Given the description of an element on the screen output the (x, y) to click on. 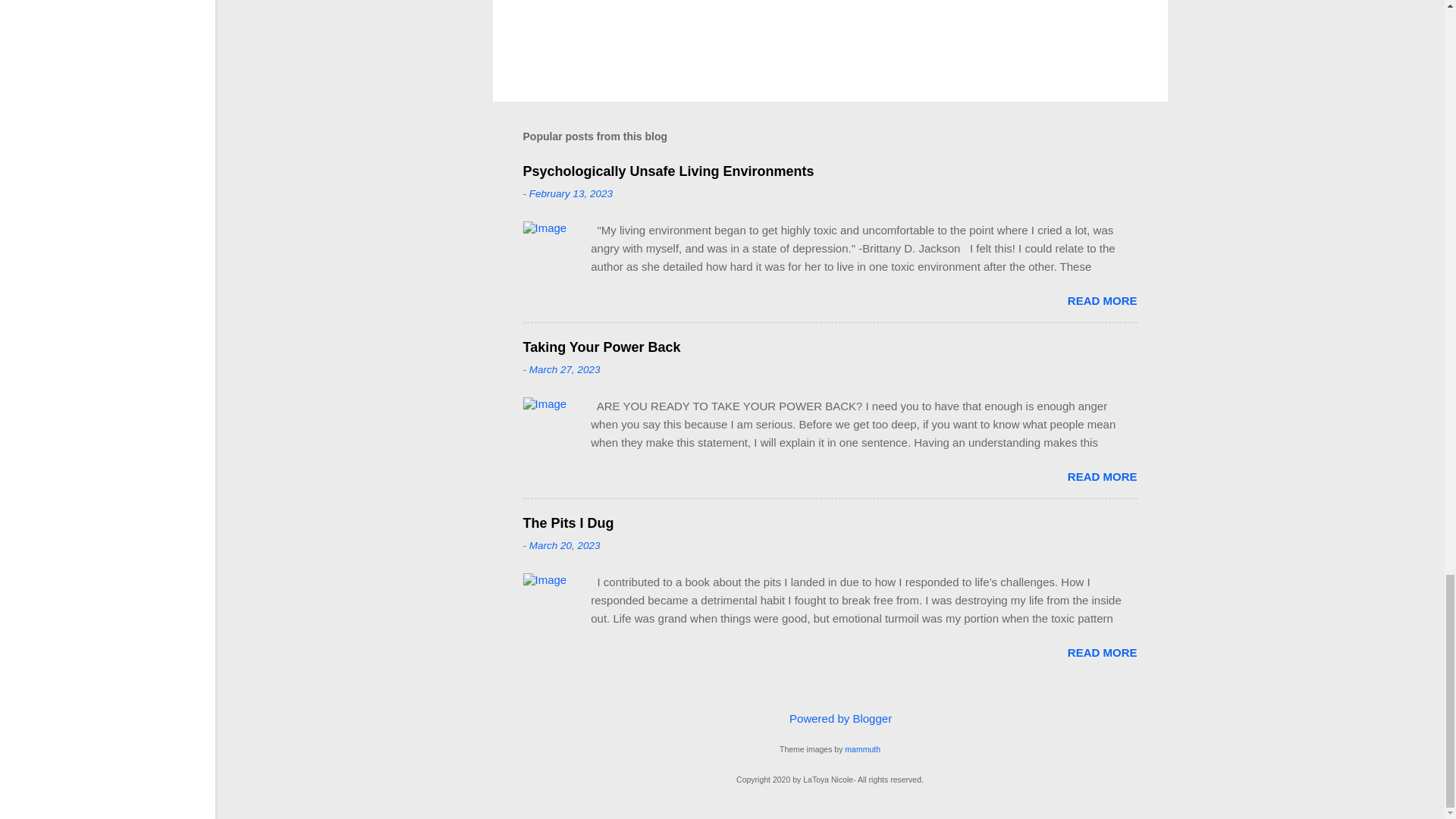
permanent link (570, 193)
Psychologically Unsafe Living Environments (667, 171)
February 13, 2023 (570, 193)
